Given the description of an element on the screen output the (x, y) to click on. 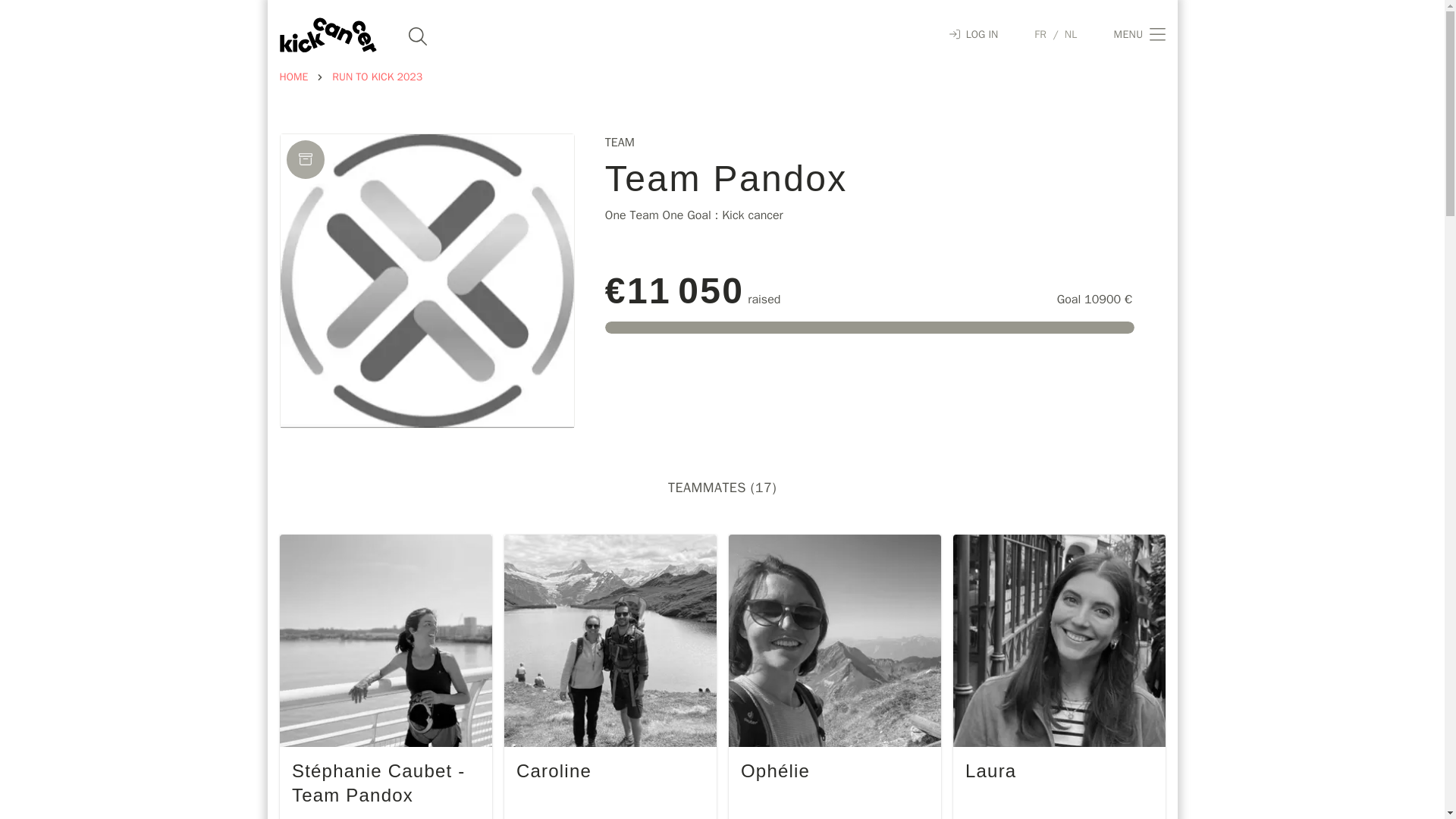
MENU (1139, 34)
KickCancer - home (327, 34)
RUN TO KICK 2023 (376, 77)
HOME (293, 77)
